Given the description of an element on the screen output the (x, y) to click on. 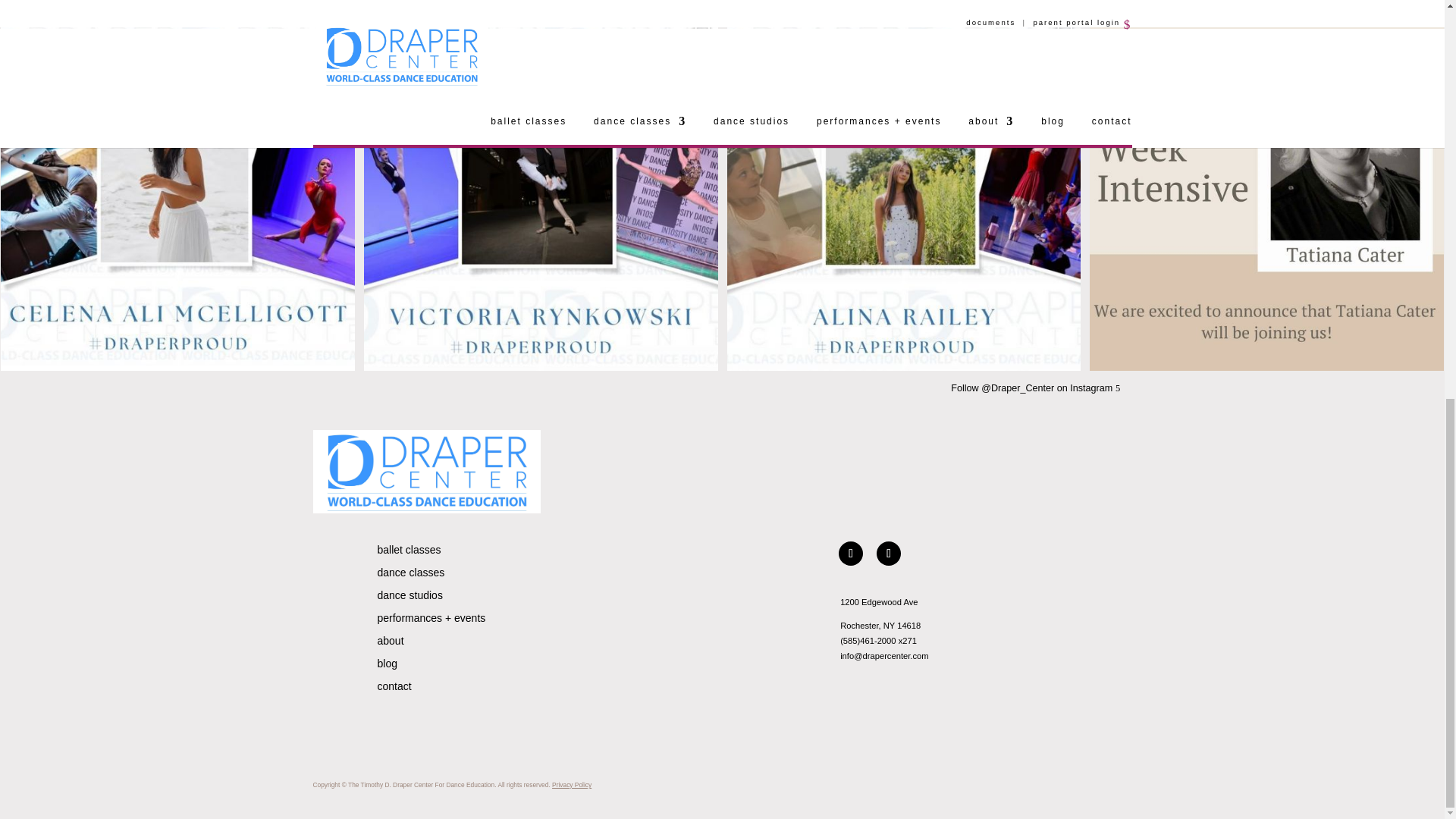
Follow on Instagram (888, 553)
Follow on Facebook (850, 553)
Draper logo blue (426, 471)
